Given the description of an element on the screen output the (x, y) to click on. 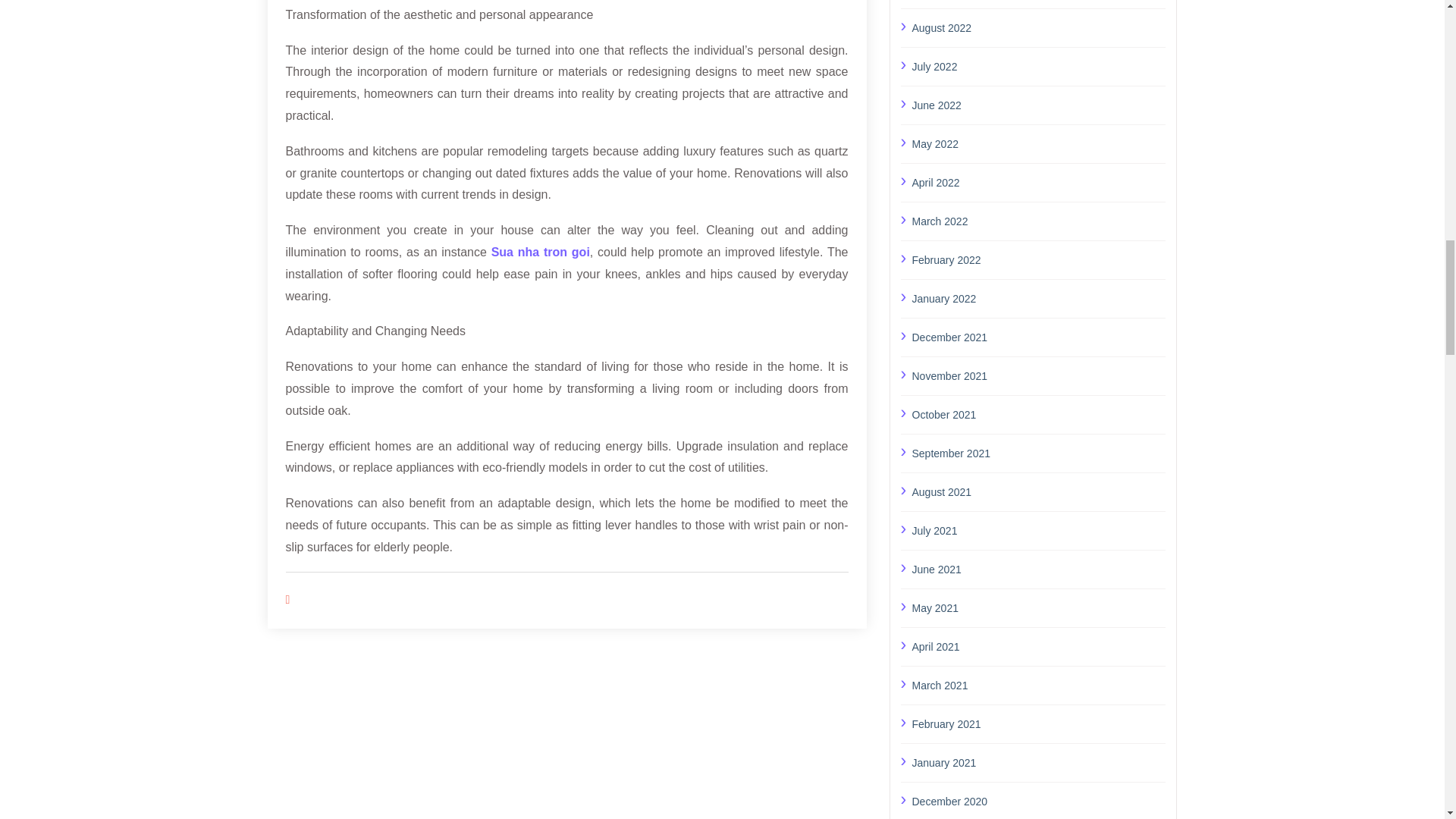
Sua nha tron goi (540, 251)
